Given the description of an element on the screen output the (x, y) to click on. 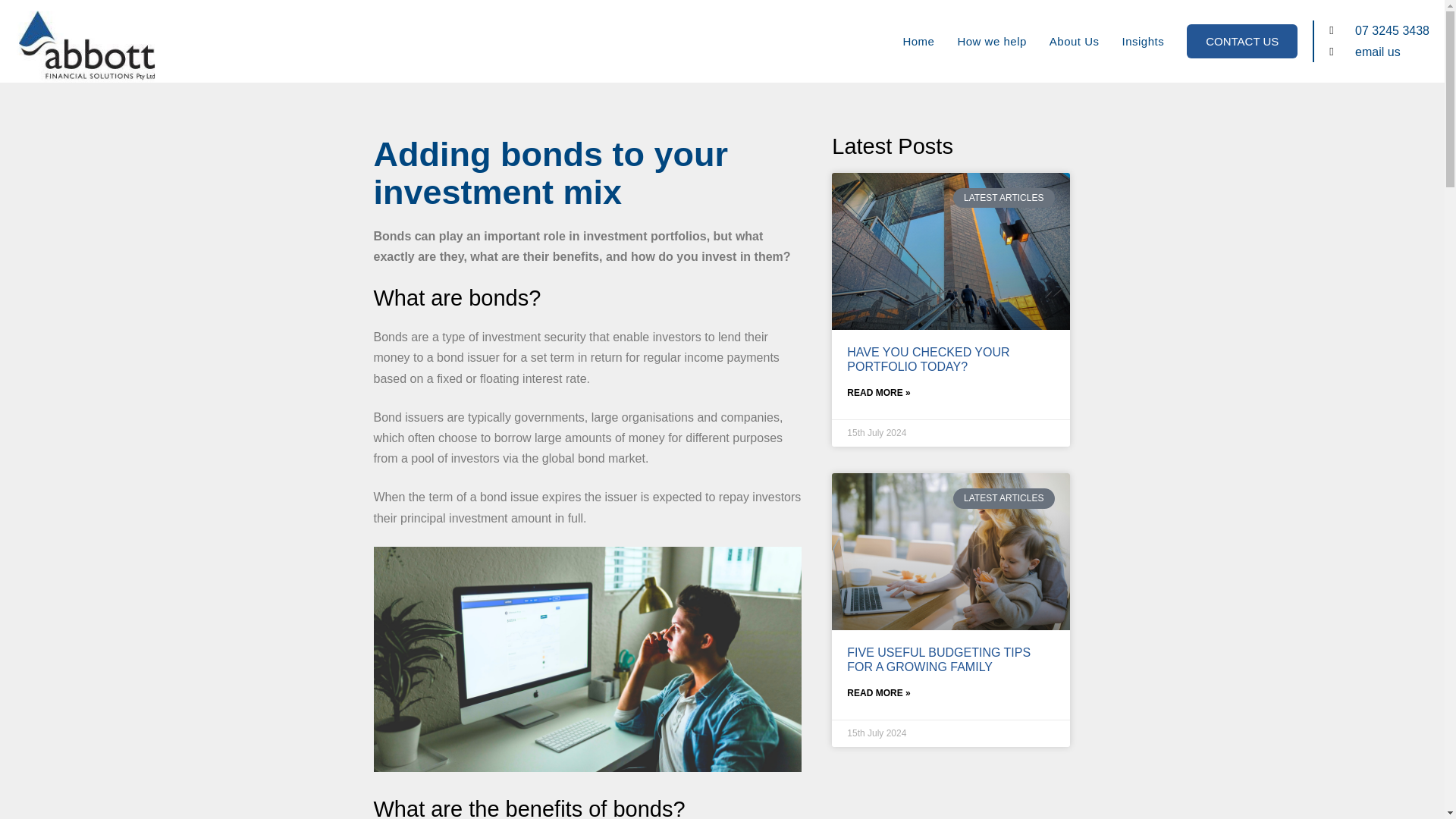
How we help (991, 41)
Insights (1143, 41)
FIVE USEFUL BUDGETING TIPS FOR A GROWING FAMILY (938, 659)
07 3245 3438 (1379, 30)
email us (1379, 51)
Home (918, 41)
About Us (1074, 41)
CONTACT US (1241, 41)
HAVE YOU CHECKED YOUR PORTFOLIO TODAY? (928, 359)
